Given the description of an element on the screen output the (x, y) to click on. 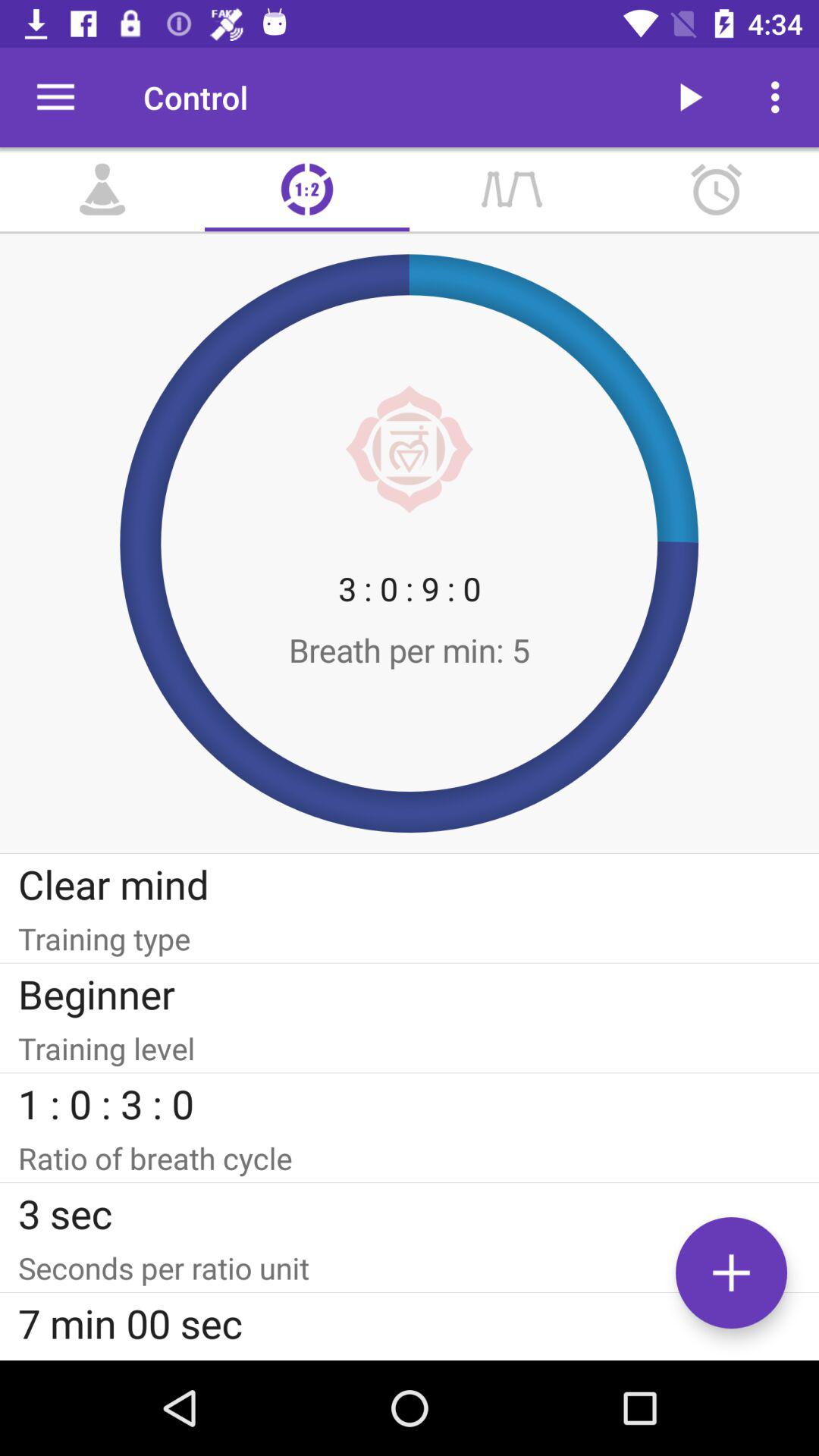
click 1 0 3 item (409, 1103)
